Given the description of an element on the screen output the (x, y) to click on. 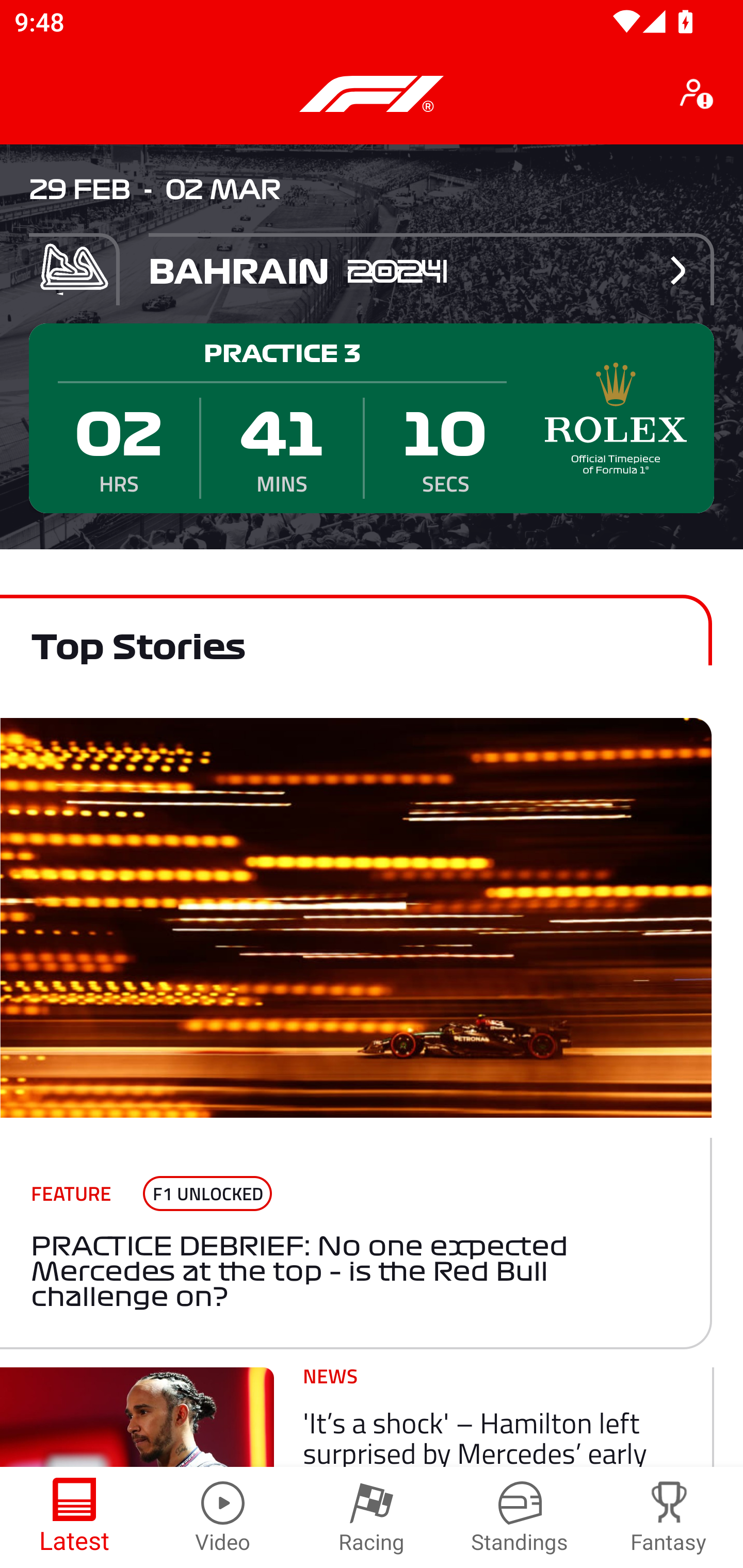
Video (222, 1517)
Racing (371, 1517)
Standings (519, 1517)
Fantasy (668, 1517)
